Given the description of an element on the screen output the (x, y) to click on. 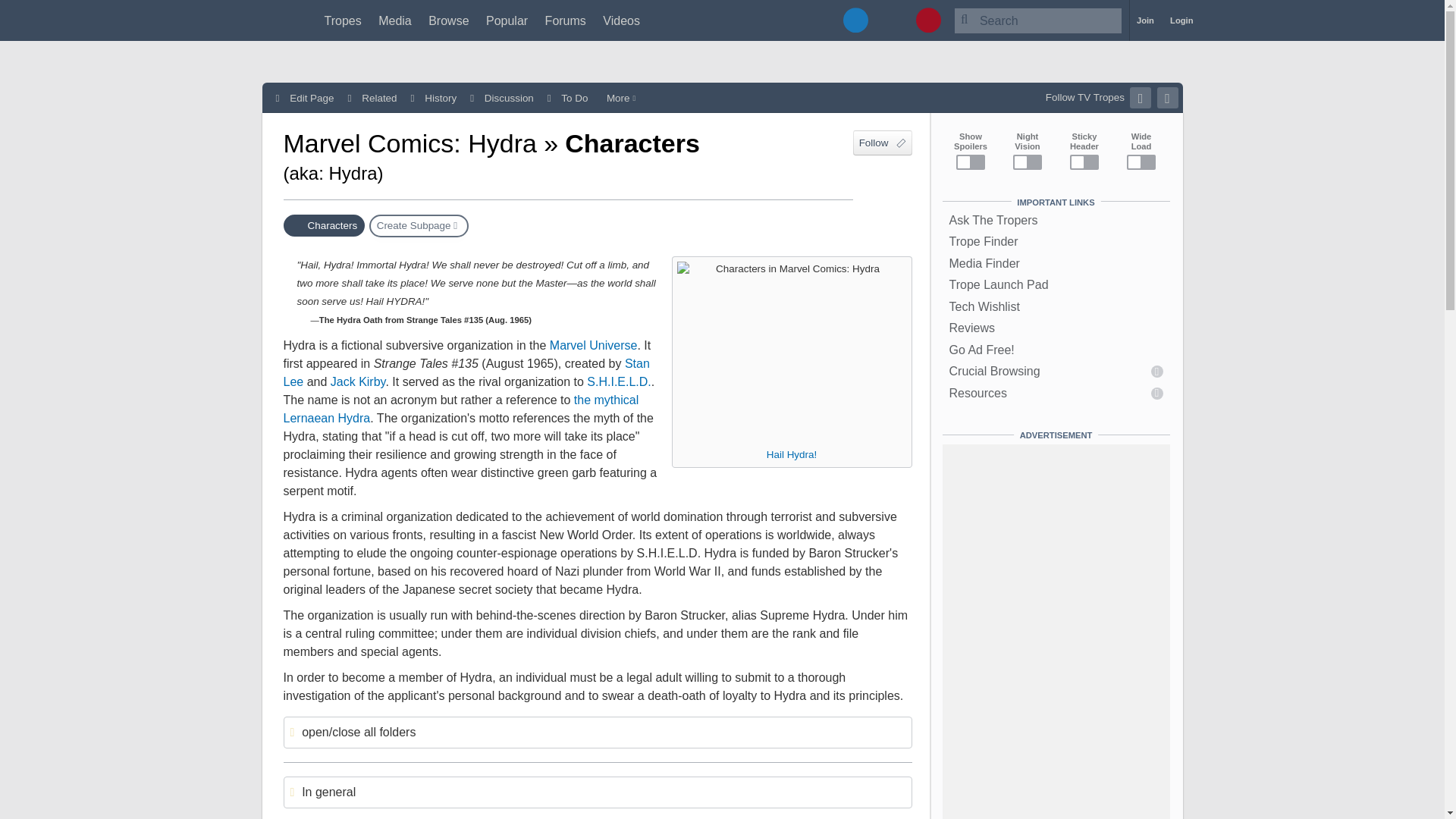
The Characters page (324, 225)
Tropes (342, 20)
Popular (506, 20)
Forums (565, 20)
Login (1181, 20)
Media (395, 20)
Browse (448, 20)
Videos (621, 20)
